Given the description of an element on the screen output the (x, y) to click on. 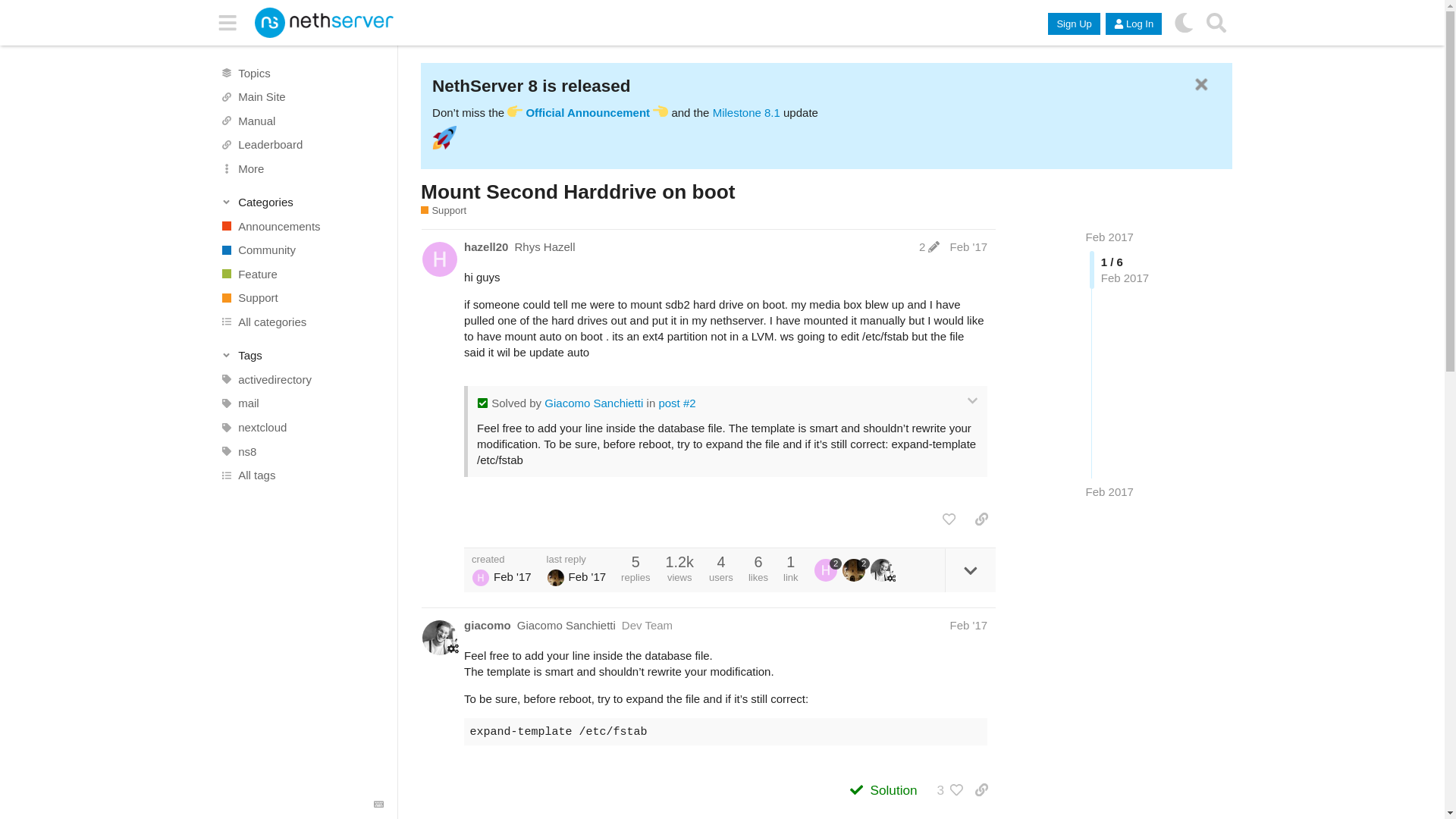
Leaderboard (301, 144)
Manual (301, 120)
Feature (301, 274)
Feb '17 (968, 246)
Categories (301, 201)
Mount Second Harddrive on boot (577, 191)
Main Site (301, 96)
Keyboard Shortcuts (378, 805)
Announcements (301, 225)
More (301, 168)
Toggle color scheme (1183, 22)
All topics (301, 72)
nextcloud (301, 427)
